Given the description of an element on the screen output the (x, y) to click on. 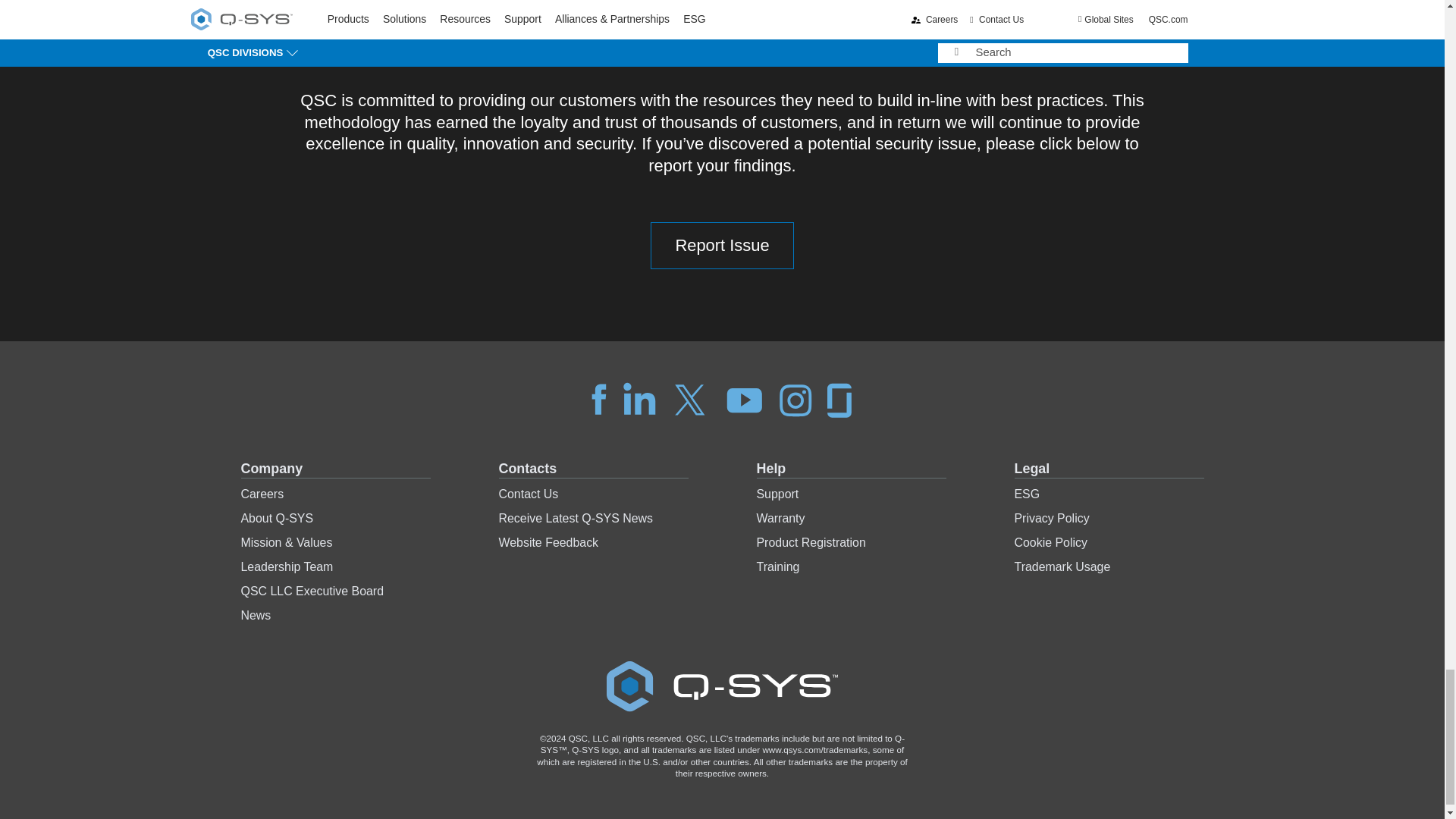
LinkedIn logo (638, 399)
YouTube logo (744, 399)
Q-SYS logo (722, 685)
Twitter logo (690, 399)
Instagram logo (795, 399)
